Given the description of an element on the screen output the (x, y) to click on. 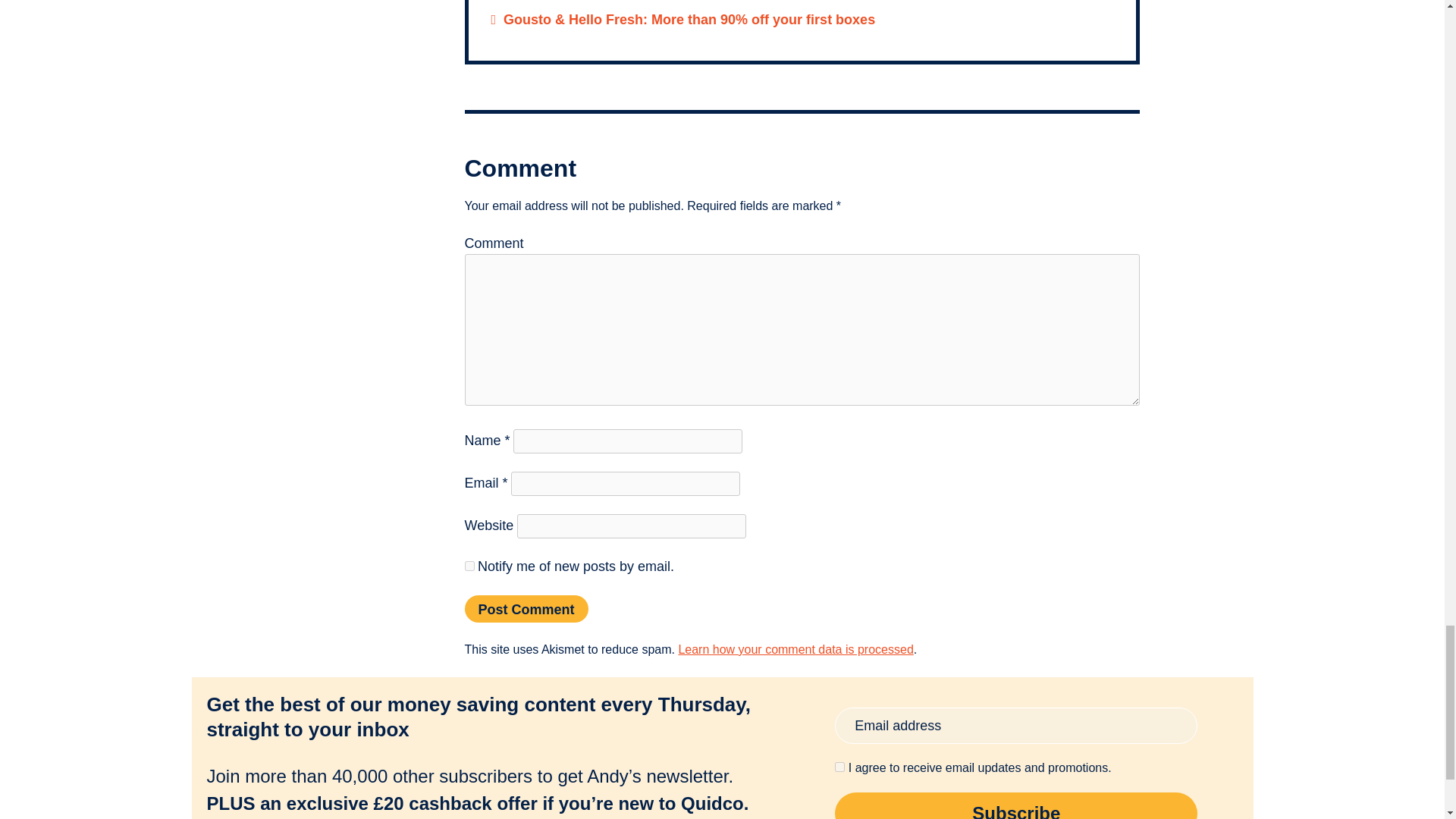
Subscribe (1015, 805)
Post Comment (526, 608)
subscribe (469, 565)
on (839, 767)
